Given the description of an element on the screen output the (x, y) to click on. 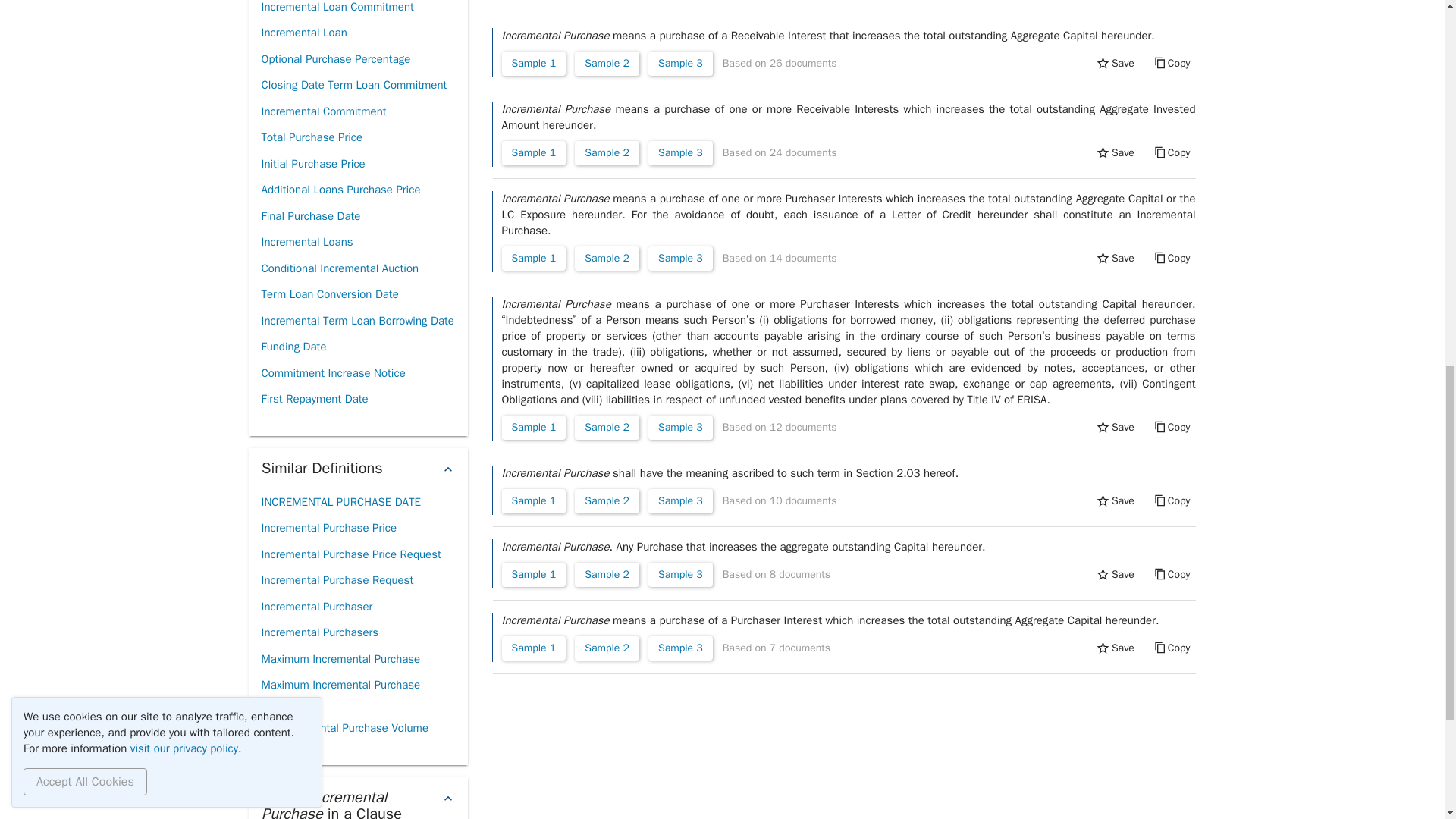
Initial Purchase Price (312, 163)
Total Purchase Price (311, 137)
Incremental Loan Commitment (336, 10)
Incremental Commitment (322, 111)
Optional Purchase Percentage (335, 58)
Incremental Loan (303, 32)
Closing Date Term Loan Commitment (353, 85)
Additional Loans Purchase Price (340, 189)
